Given the description of an element on the screen output the (x, y) to click on. 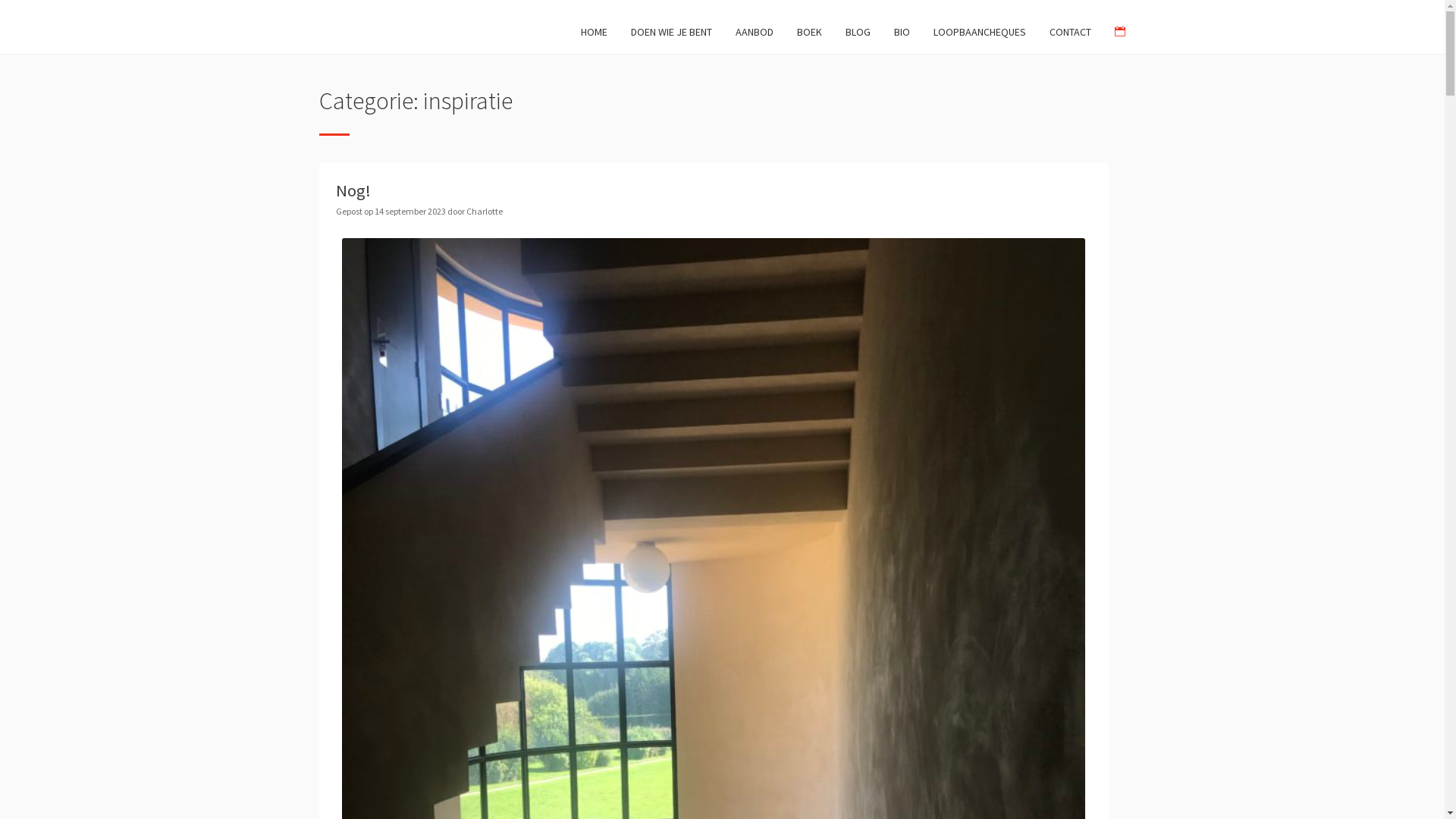
DOEN WIE JE BENT Element type: text (671, 31)
BLOG Element type: text (857, 31)
CONTACT Element type: text (1069, 31)
BOEK Element type: text (809, 31)
HOME Element type: text (594, 31)
LOOPBAANCHEQUES Element type: text (979, 31)
AANBOD Element type: text (754, 31)
Nog! Element type: text (352, 189)
BIO Element type: text (901, 31)
